Given the description of an element on the screen output the (x, y) to click on. 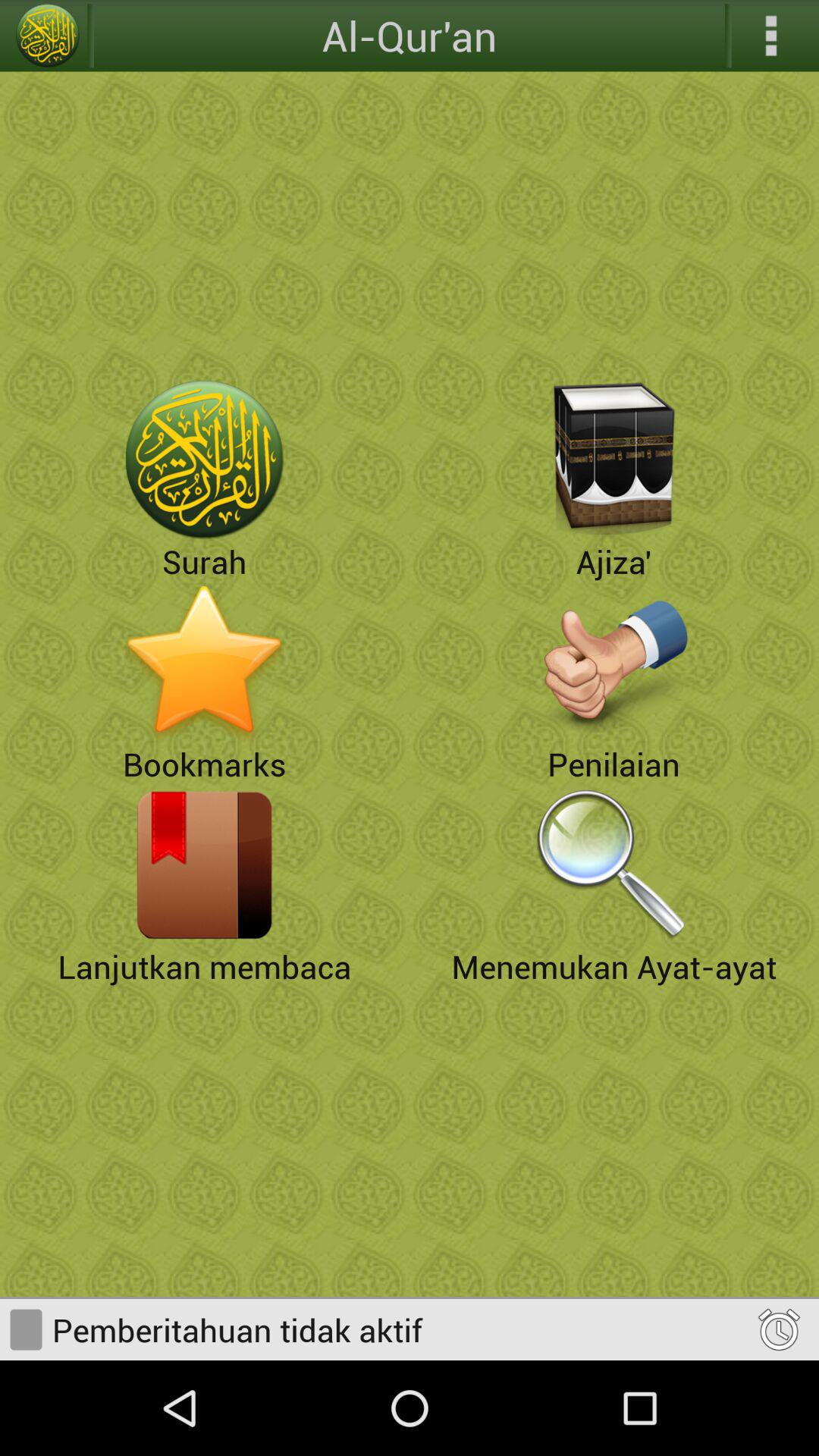
bookmark the page (204, 662)
